Given the description of an element on the screen output the (x, y) to click on. 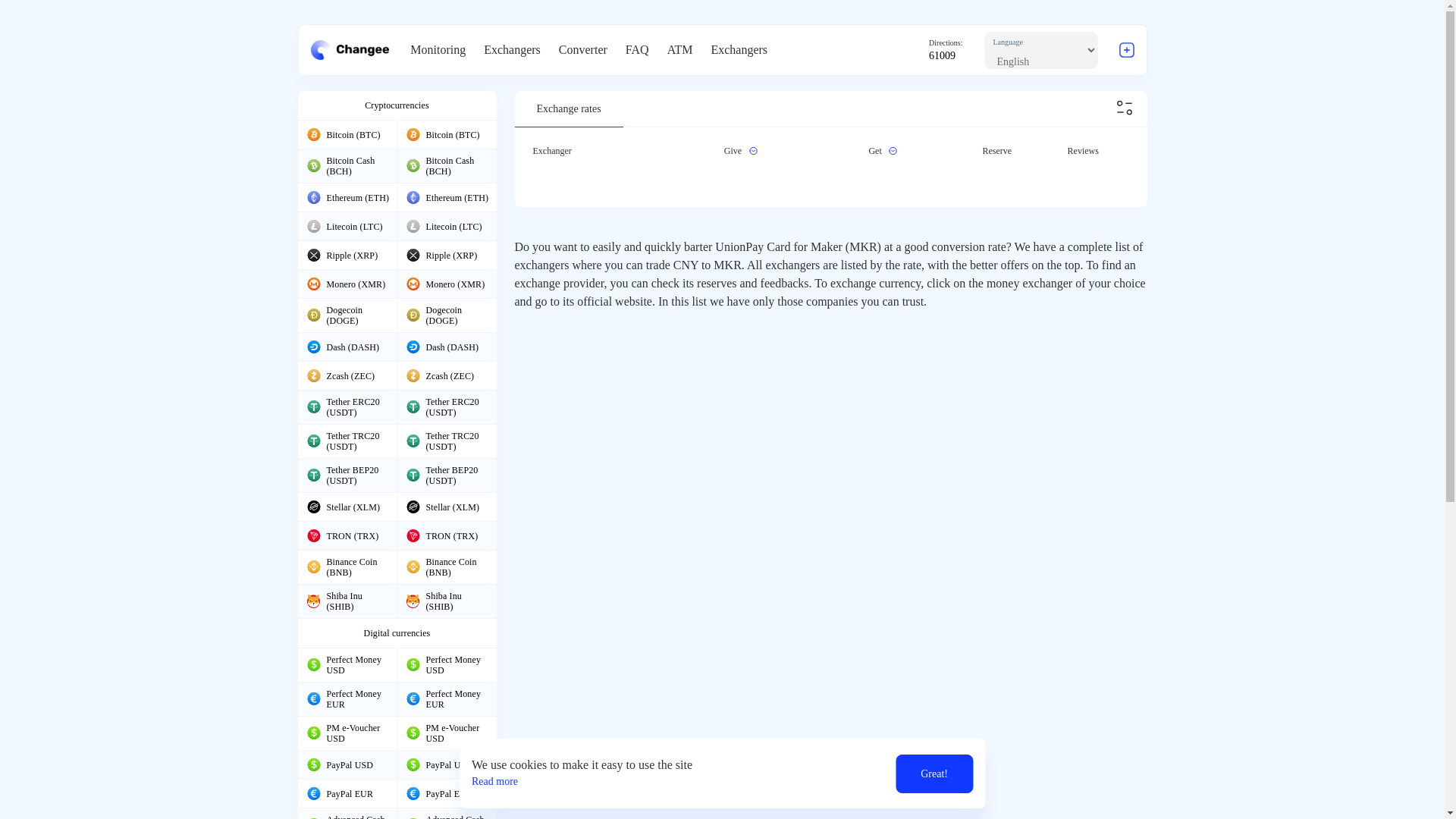
Monitoring (437, 49)
Bitcoin Cash (413, 165)
Converter (583, 49)
Bitcoin (413, 133)
Monero (413, 284)
Litecoin (413, 226)
Zcash (413, 375)
Dash (413, 345)
Exchangers (511, 49)
Change (350, 49)
Ethereum (312, 197)
Dogecoin (312, 315)
add (1126, 49)
ATM (679, 49)
Bitcoin Cash (312, 165)
